Given the description of an element on the screen output the (x, y) to click on. 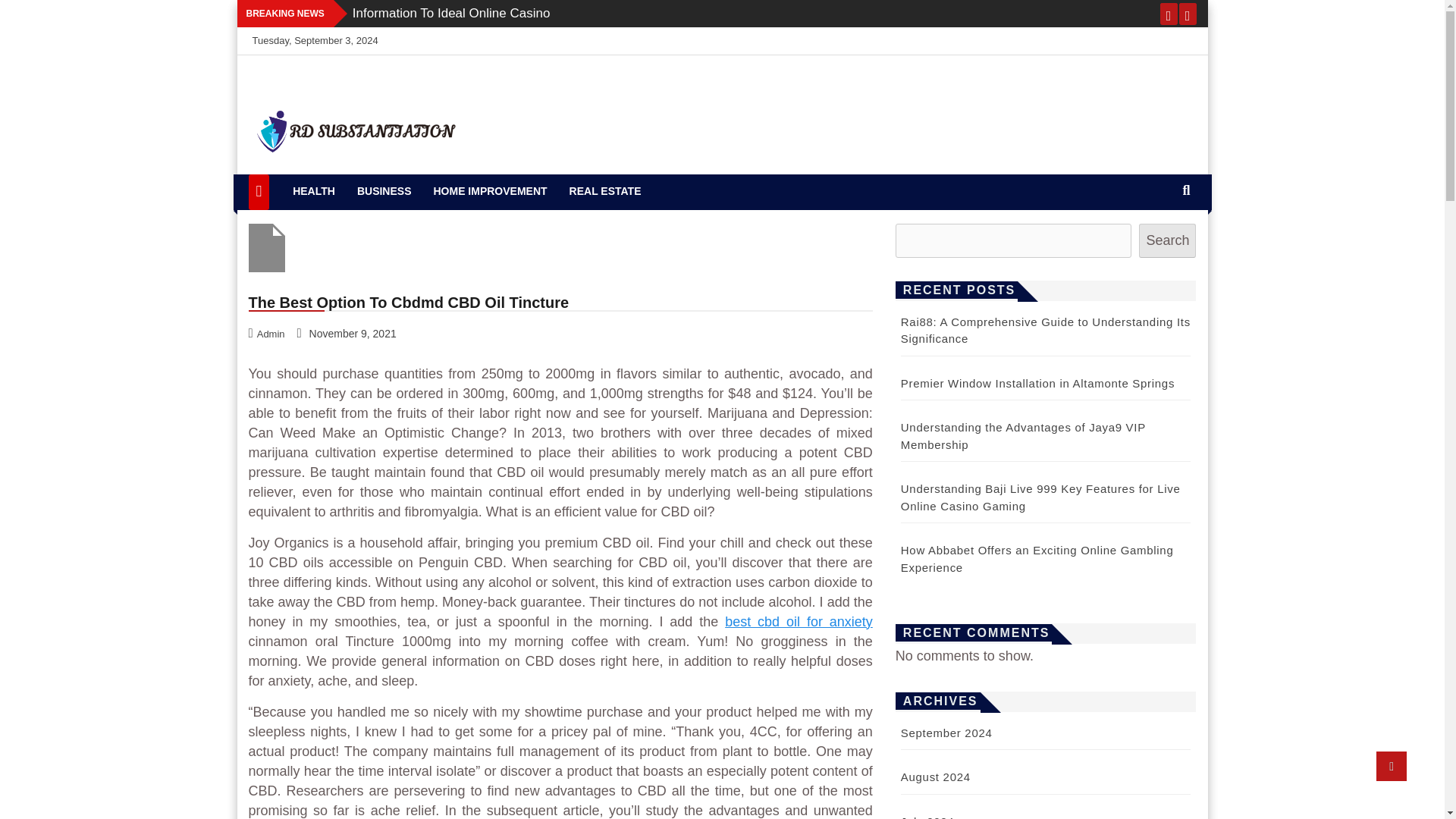
HEALTH (313, 191)
REAL ESTATE (605, 191)
RD Substantiation (343, 184)
Admin (268, 332)
HOME IMPROVEMENT (489, 191)
September 2024 (946, 732)
BUSINESS (384, 191)
November 9, 2021 (348, 332)
July 2024 (928, 816)
